Given the description of an element on the screen output the (x, y) to click on. 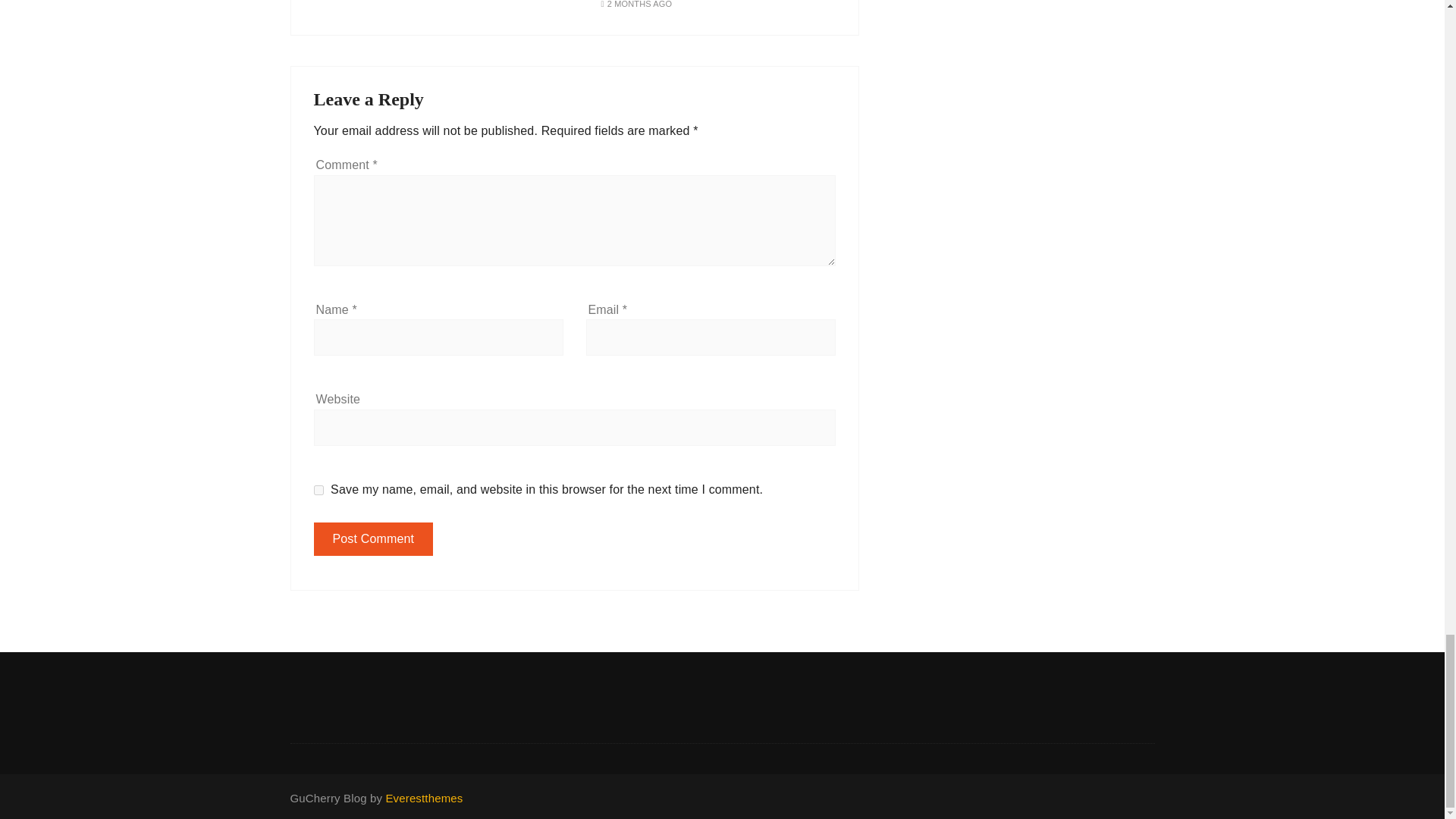
Post Comment (373, 539)
Everestthemes (424, 797)
yes (318, 490)
Post Comment (373, 539)
